Given the description of an element on the screen output the (x, y) to click on. 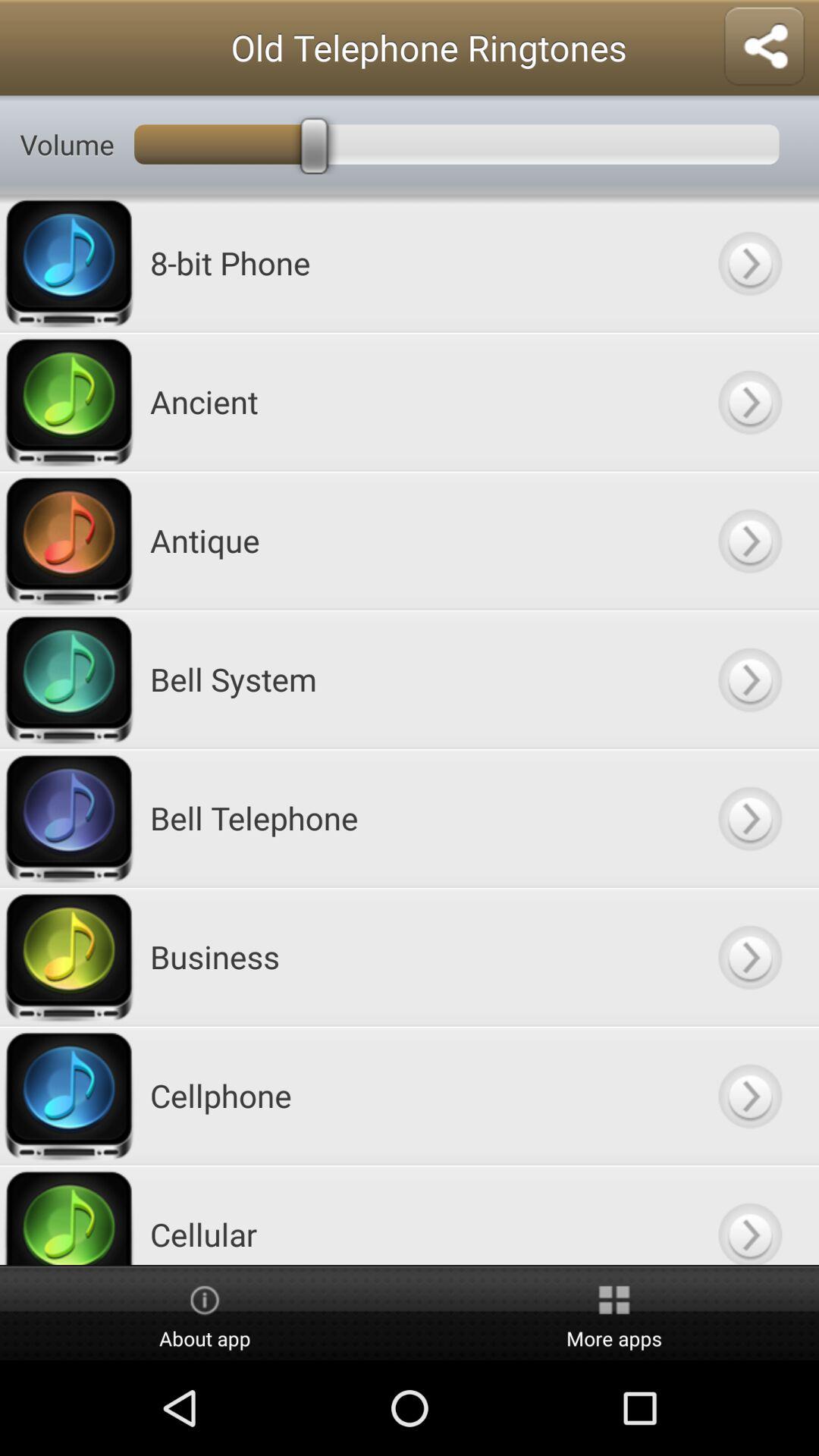
play rington (749, 1095)
